Given the description of an element on the screen output the (x, y) to click on. 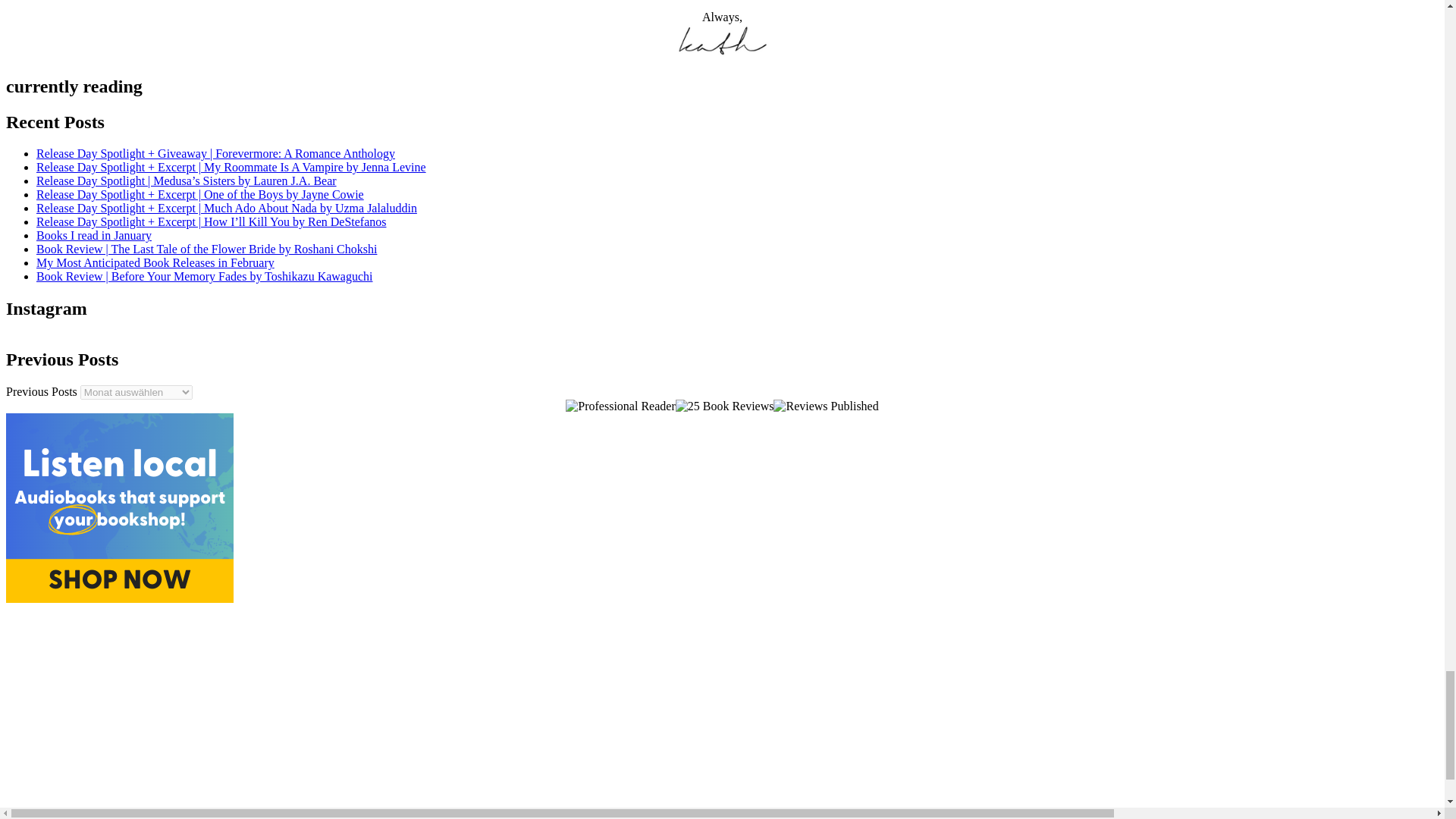
Professional Reader (620, 406)
Reviews Published (825, 406)
25 Book Reviews (724, 406)
